Given the description of an element on the screen output the (x, y) to click on. 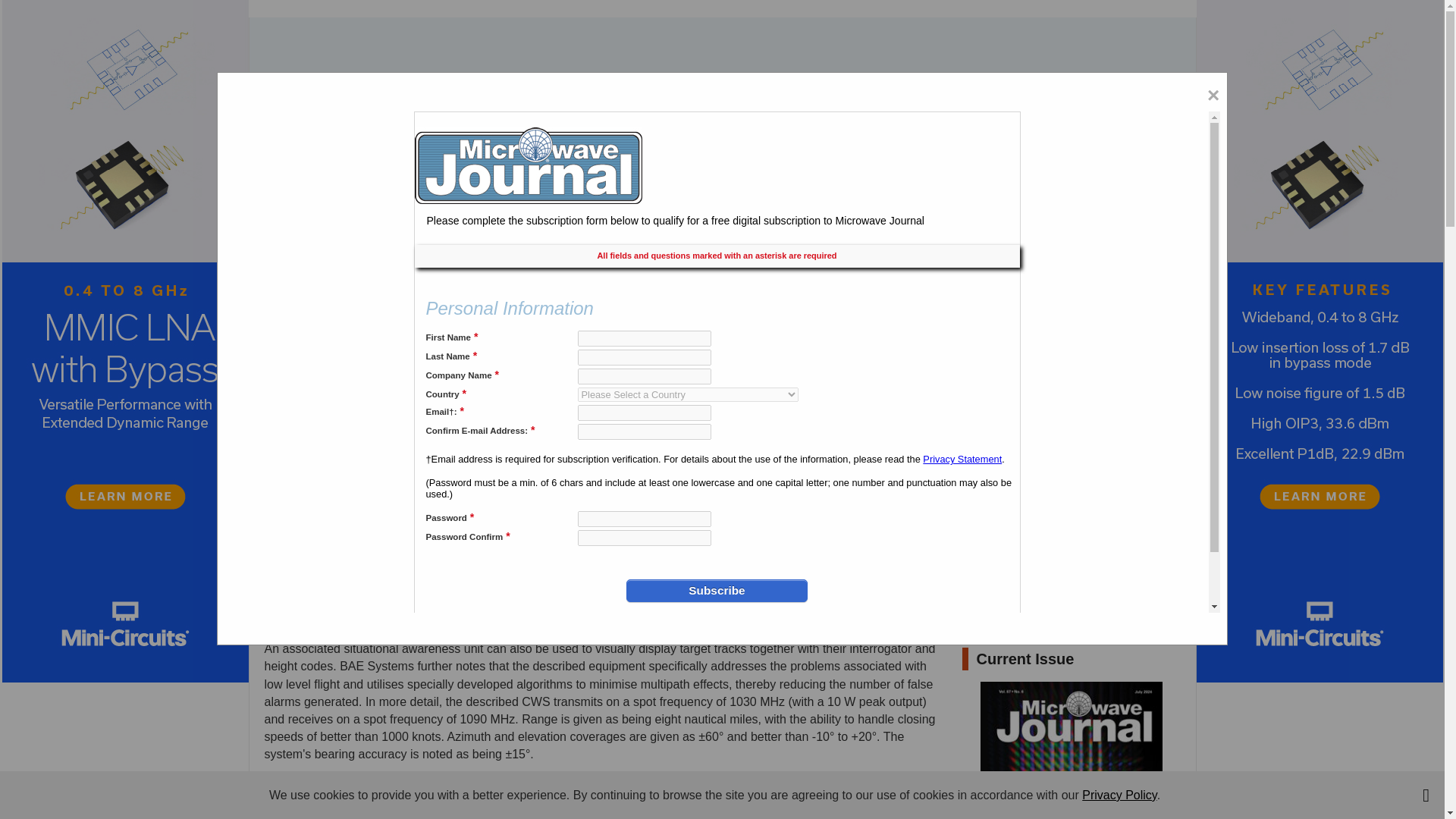
3rd party ad content (1075, 534)
BAE Systems Reveals Fast Jet CWS (510, 396)
3rd party ad content (721, 66)
1 (342, 800)
Go (438, 800)
